Given the description of an element on the screen output the (x, y) to click on. 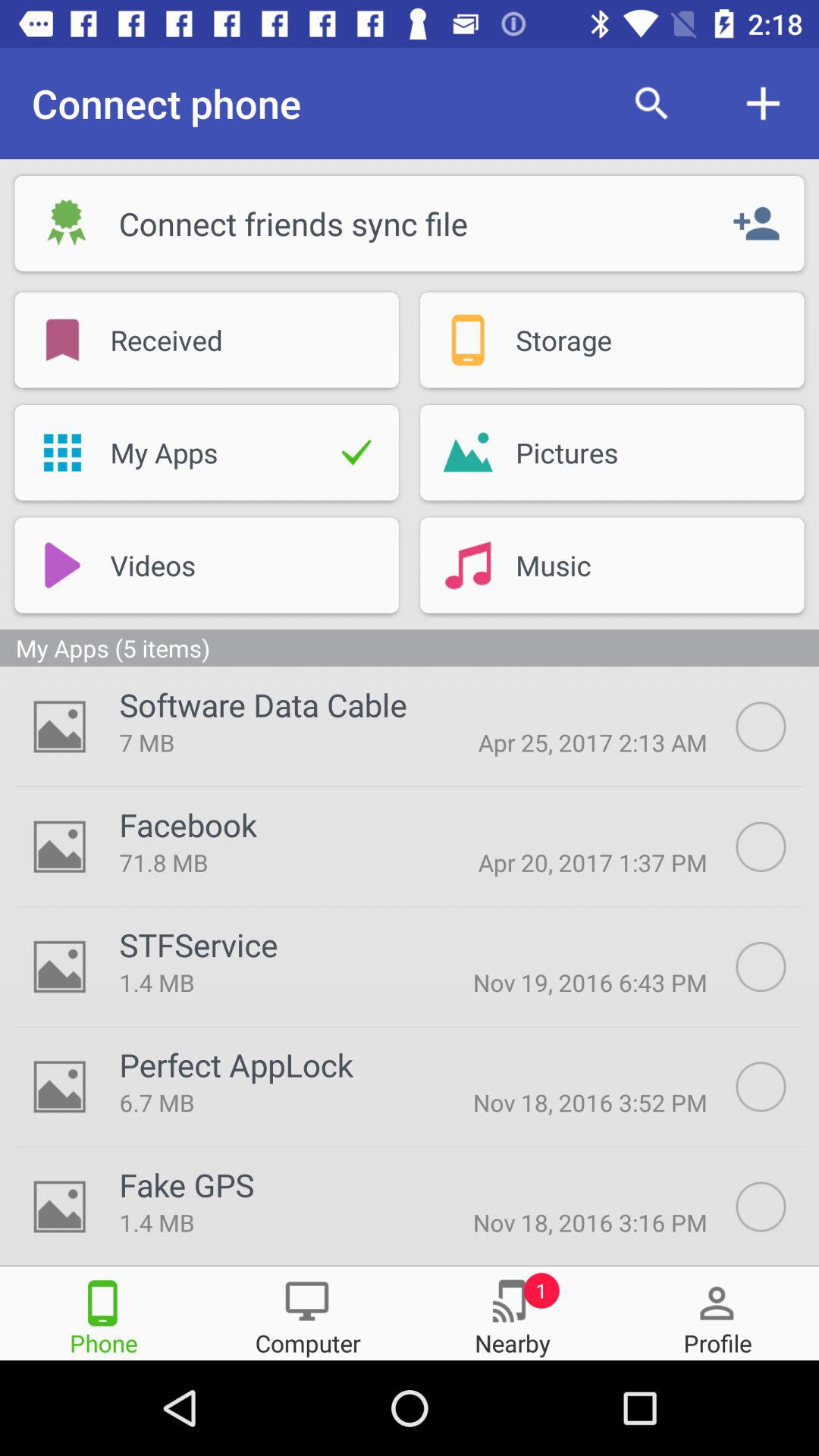
jump until the 6.7 mb icon (266, 1102)
